Given the description of an element on the screen output the (x, y) to click on. 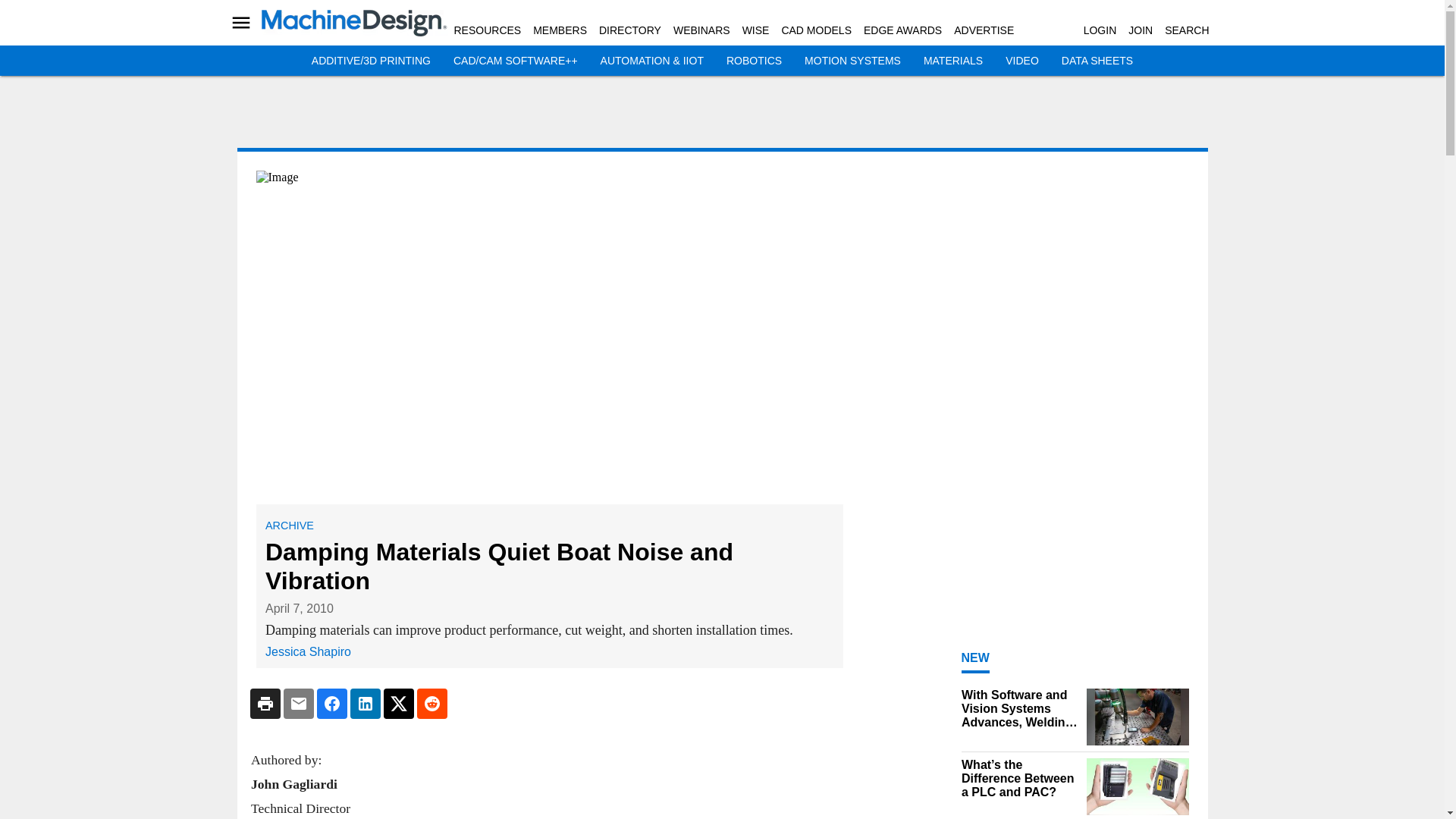
WEBINARS (701, 30)
RESOURCES (486, 30)
LOGIN (1099, 30)
DATA SHEETS (1096, 60)
ADVERTISE (983, 30)
VIDEO (1022, 60)
DIRECTORY (629, 30)
MOTION SYSTEMS (853, 60)
MATERIALS (952, 60)
WISE (756, 30)
